Given the description of an element on the screen output the (x, y) to click on. 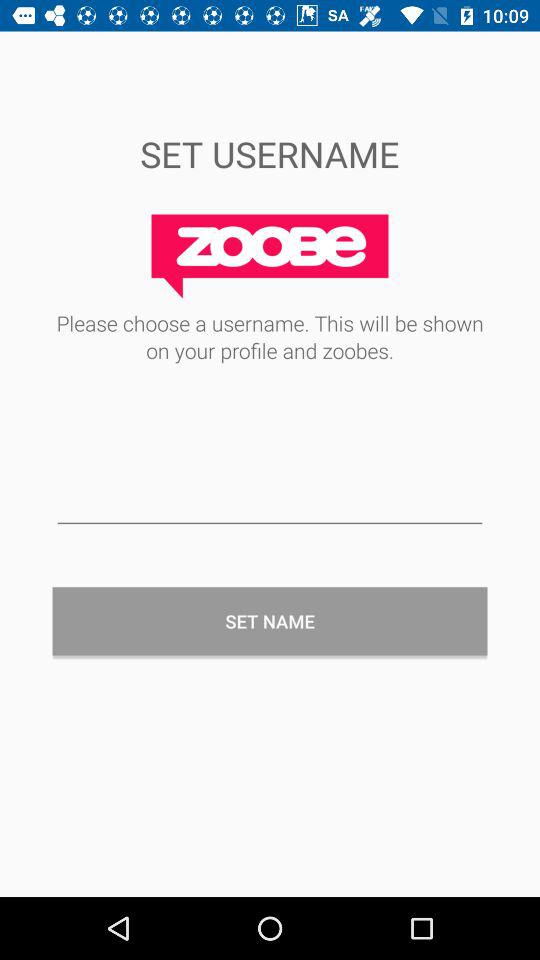
swipe until the set name item (269, 621)
